Given the description of an element on the screen output the (x, y) to click on. 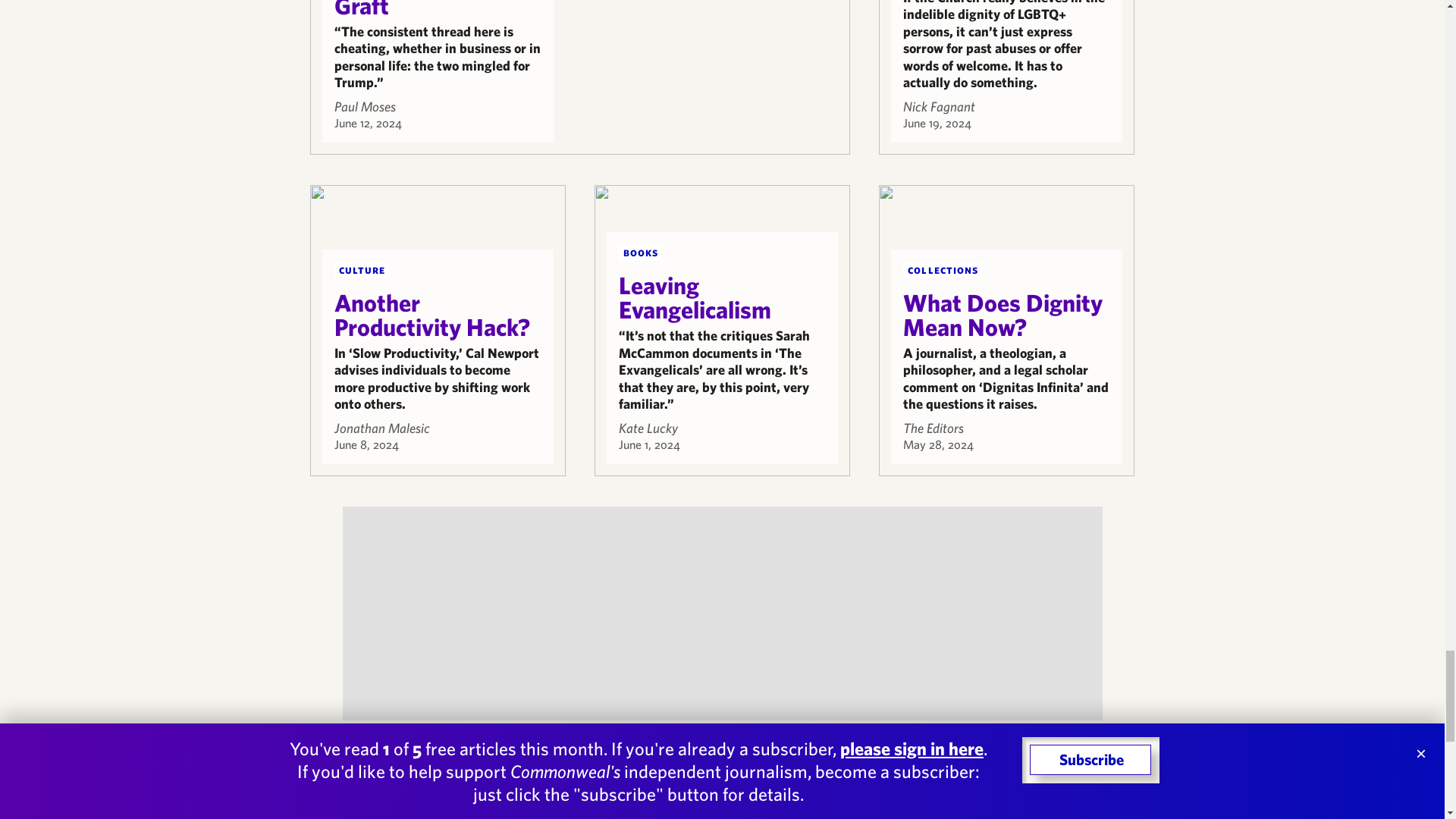
Saturday, June 8, 2024 - 14:07 (365, 444)
View user profile. (932, 427)
Wednesday, June 19, 2024 - 13:57 (936, 122)
View user profile. (363, 106)
View user profile. (938, 106)
View user profile. (381, 427)
View user profile. (648, 427)
Saturday, June 1, 2024 - 14:44 (648, 444)
Wednesday, June 12, 2024 - 10:53 (367, 122)
Tuesday, May 28, 2024 - 16:43 (938, 444)
